Given the description of an element on the screen output the (x, y) to click on. 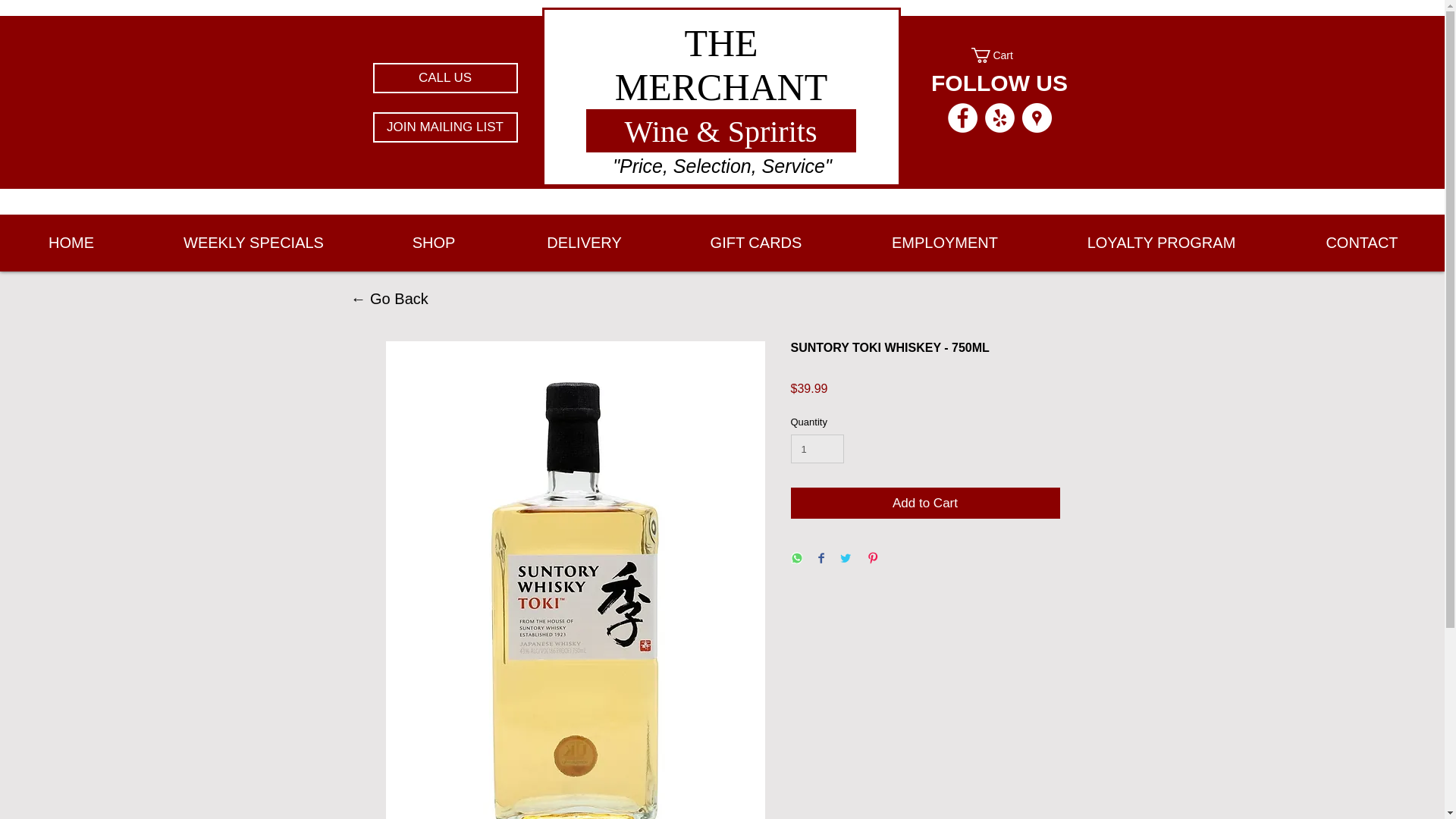
MERCHANT (721, 87)
SHOP (433, 242)
Add to Cart (924, 503)
Cart (999, 55)
CALL US (445, 78)
HOME (71, 242)
WEEKLY SPECIALS (253, 242)
1 (817, 448)
JOIN MAILING LIST (445, 127)
EMPLOYMENT (944, 242)
